Given the description of an element on the screen output the (x, y) to click on. 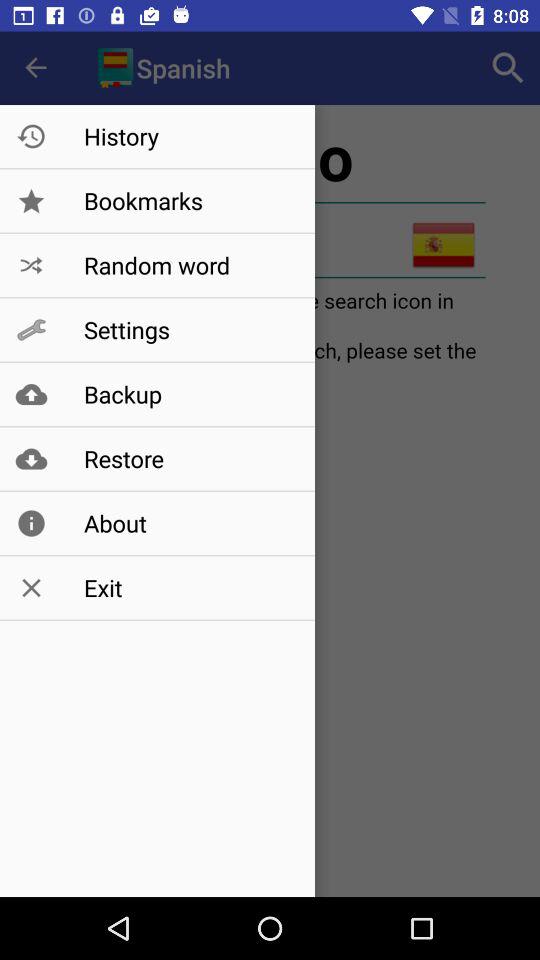
launch random word item (188, 265)
